Given the description of an element on the screen output the (x, y) to click on. 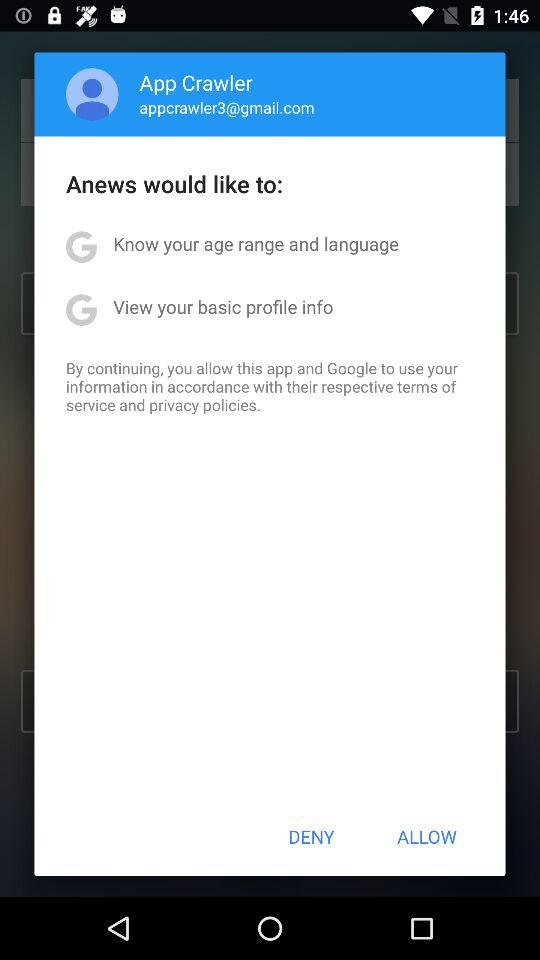
turn on the icon at the bottom (311, 836)
